Given the description of an element on the screen output the (x, y) to click on. 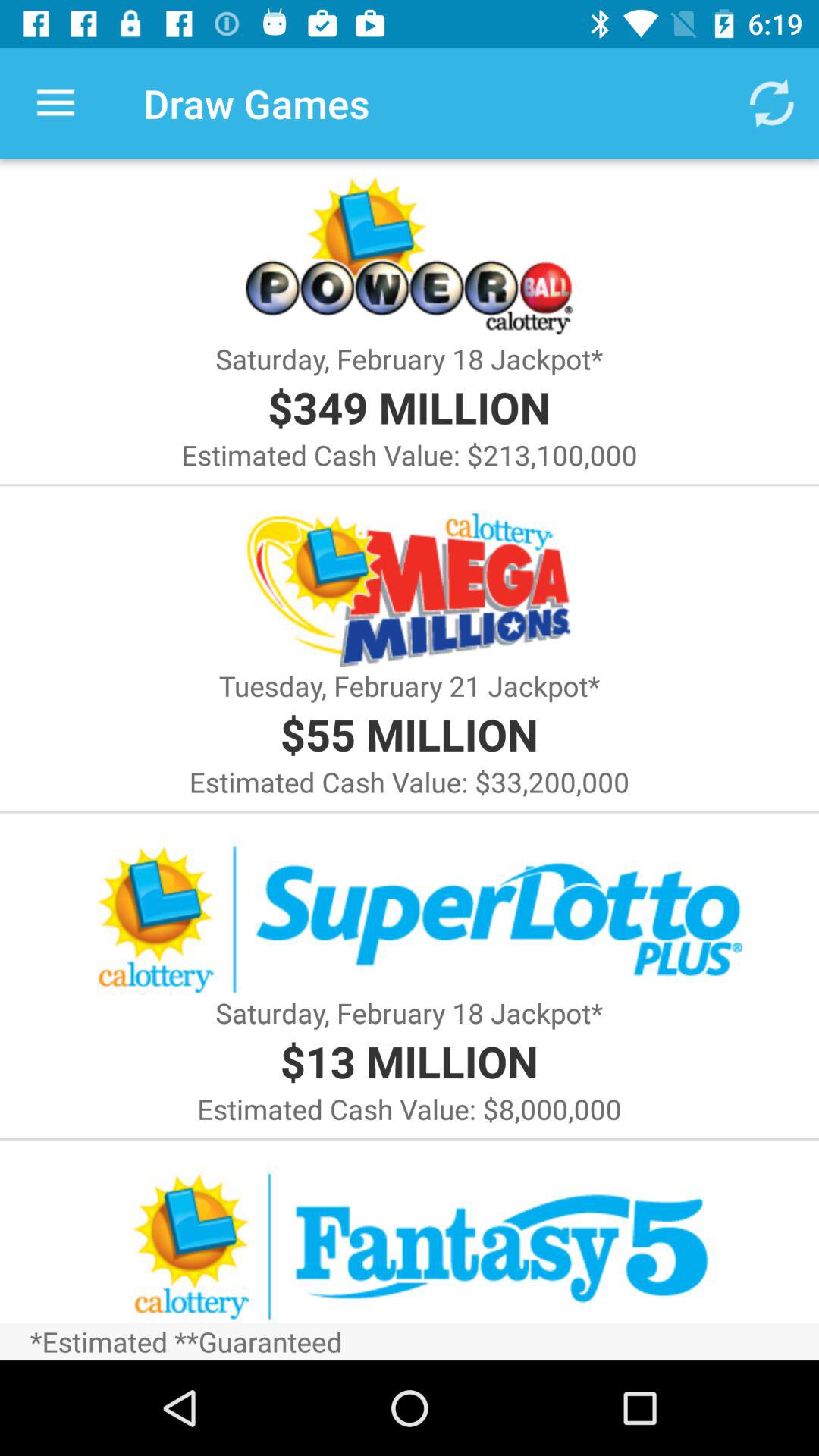
select the app next to draw games icon (55, 103)
